Given the description of an element on the screen output the (x, y) to click on. 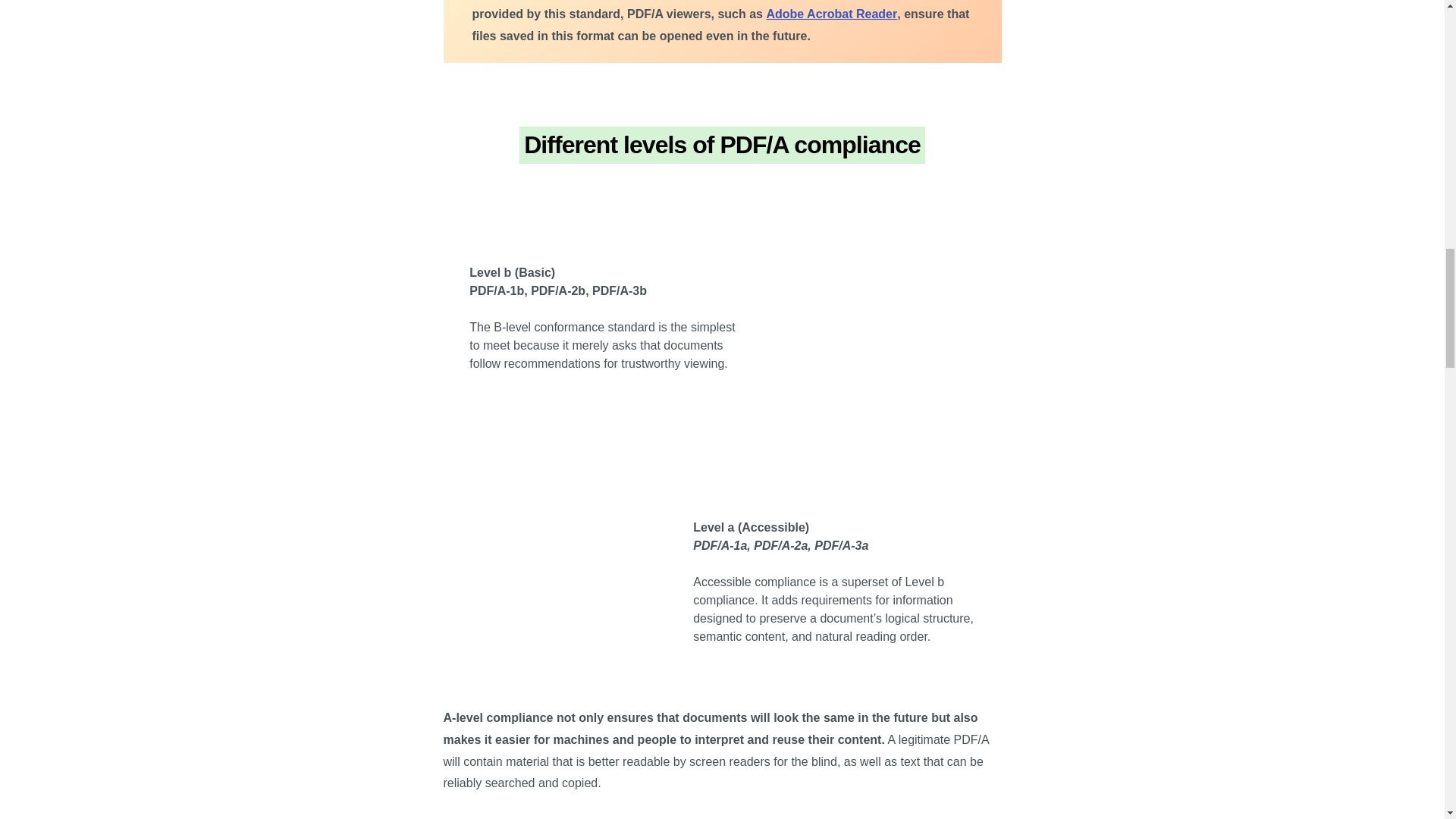
Adobe Acrobat Reader (830, 13)
